Given the description of an element on the screen output the (x, y) to click on. 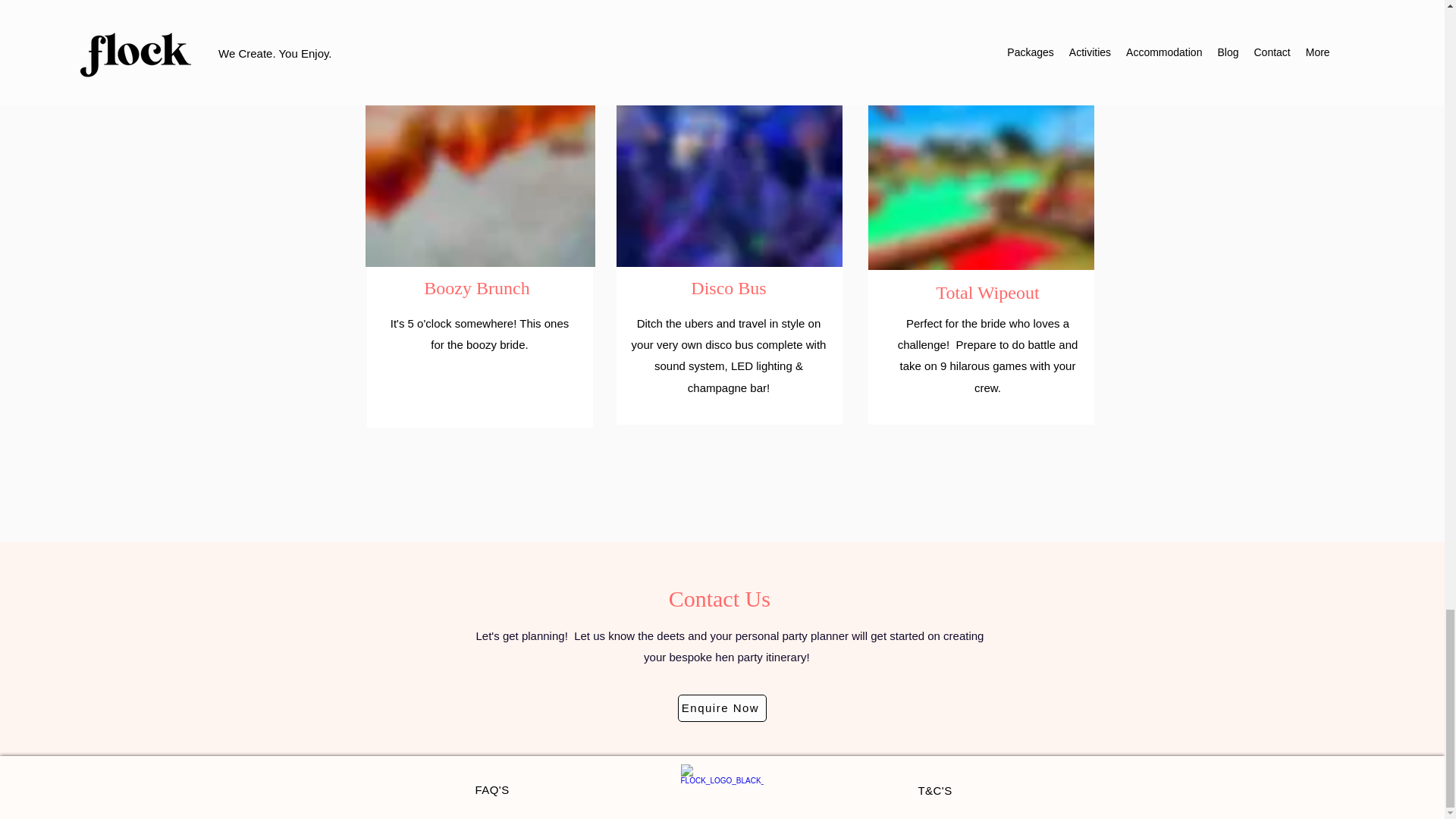
CULTURE ARCH.jpg (728, 145)
FAQ'S (491, 789)
THRILL SEEKER ARCH.jpg (480, 145)
Enquire Now (722, 707)
FOODIE ARCH.jpg (980, 147)
